Given the description of an element on the screen output the (x, y) to click on. 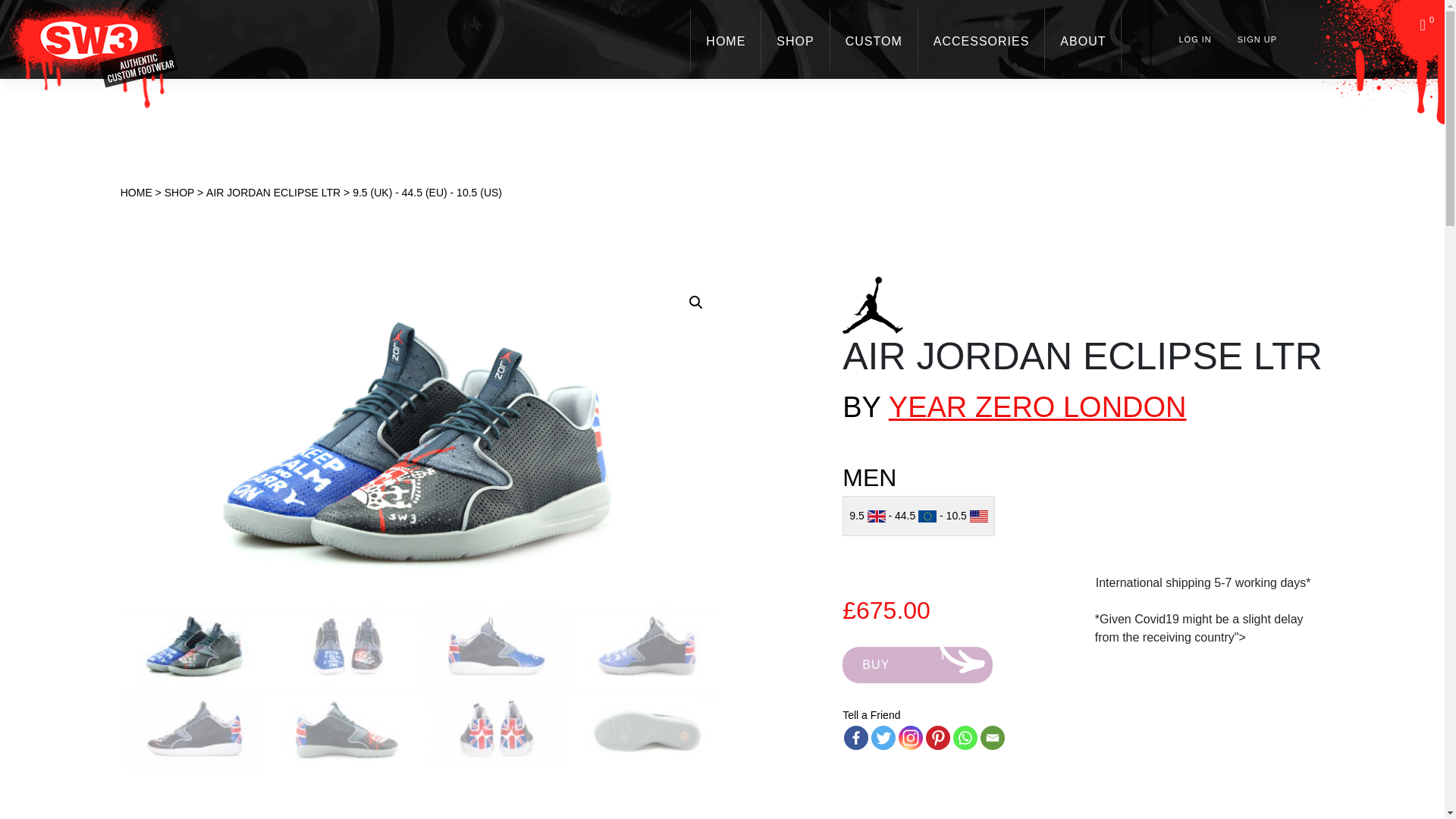
HOME (725, 39)
YEAR ZERO LONDON (1037, 407)
SHOP (795, 39)
ABOUT (1083, 39)
HOME (136, 203)
ACCESSORIES (981, 39)
HOME (725, 39)
ACCESSORIES (981, 39)
BUY (917, 664)
CUSTOM (873, 39)
ABOUT (1083, 39)
SIGN UP (1257, 39)
Start shopping (1427, 24)
SHOP (795, 39)
